Given the description of an element on the screen output the (x, y) to click on. 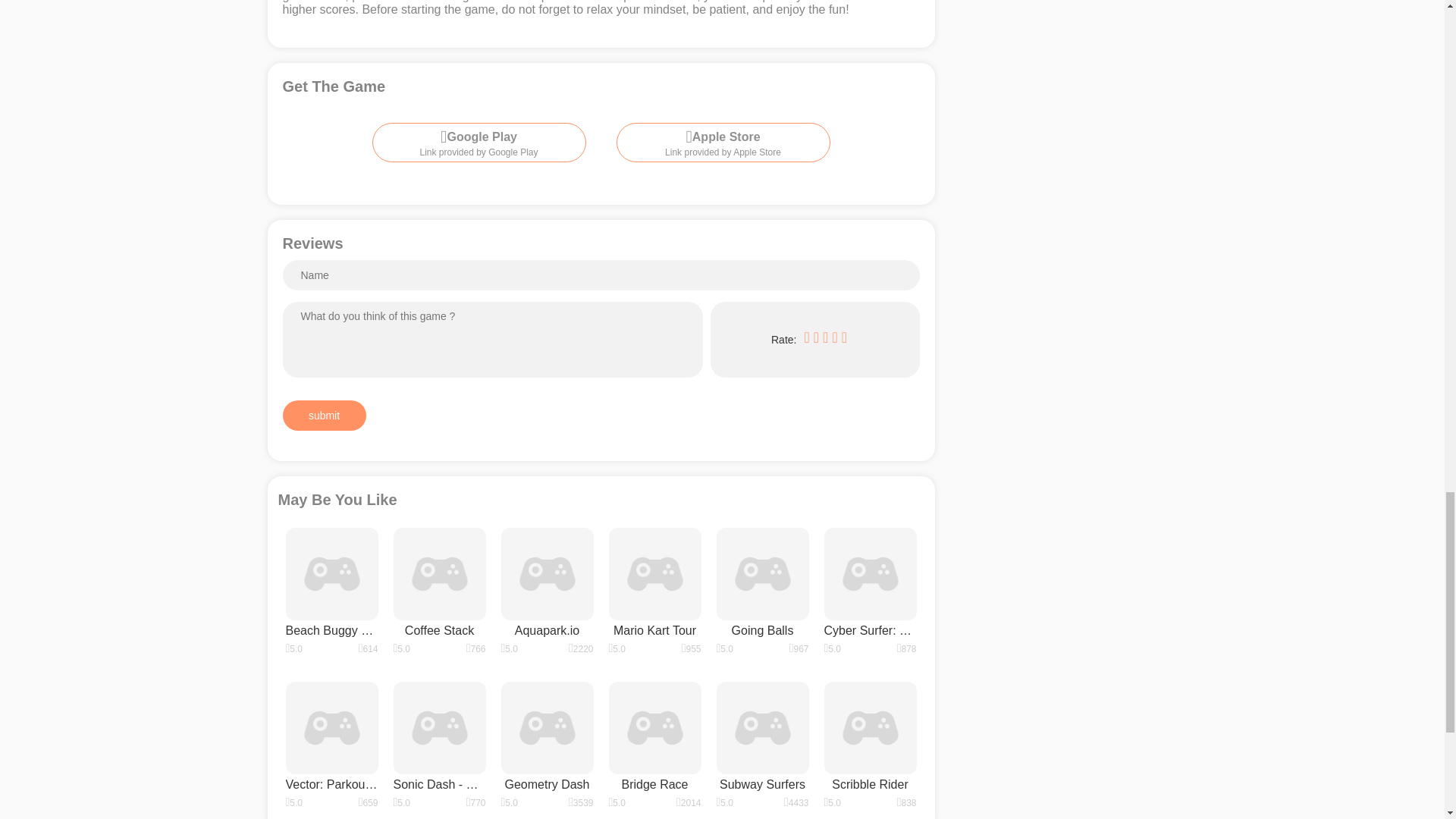
submit (722, 142)
